Given the description of an element on the screen output the (x, y) to click on. 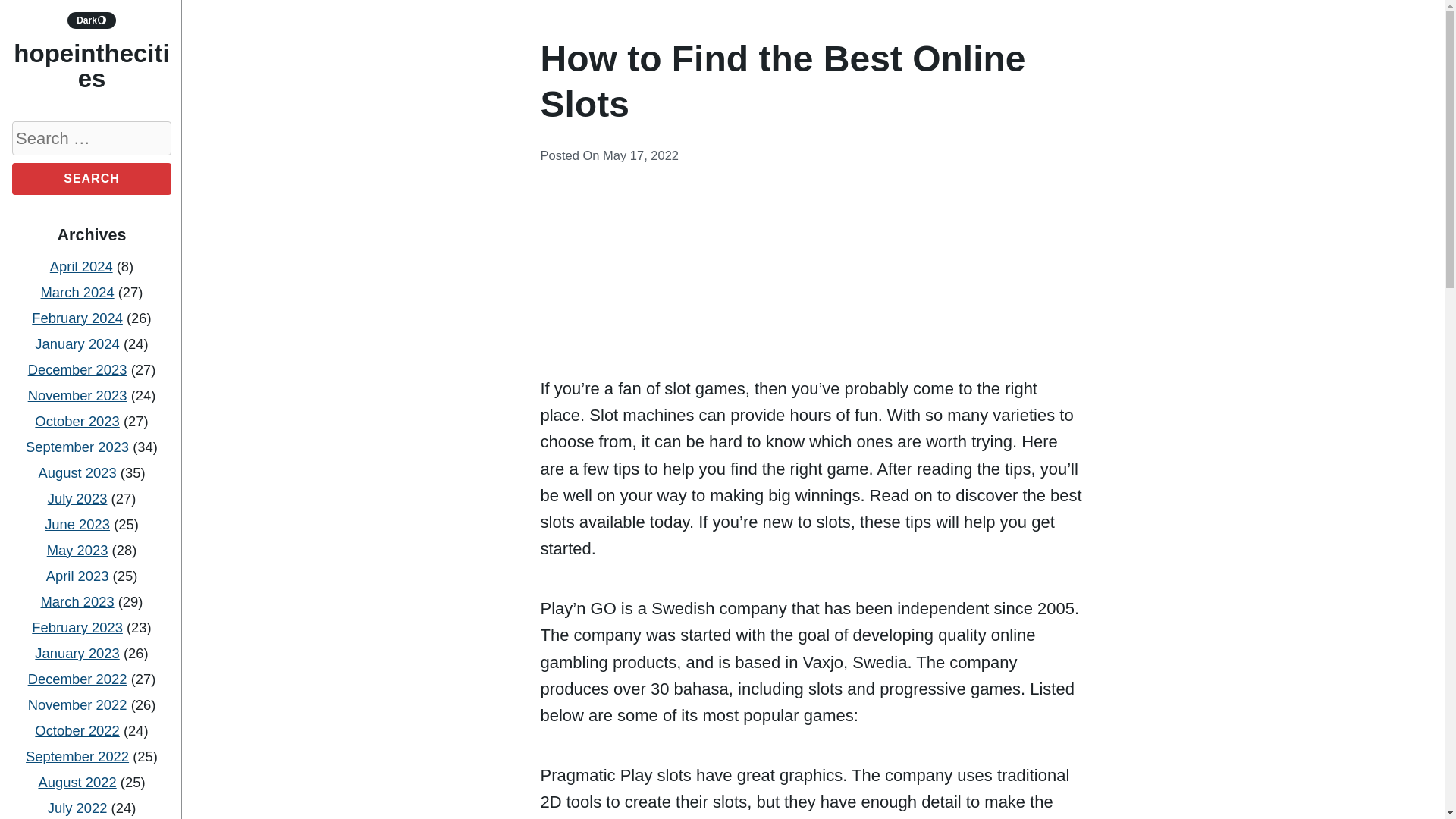
February 2023 (77, 627)
Search (91, 178)
December 2023 (77, 369)
May 2023 (76, 549)
September 2022 (77, 756)
January 2024 (76, 343)
August 2022 (76, 781)
October 2023 (76, 421)
April 2024 (81, 266)
September 2023 (77, 446)
March 2024 (77, 292)
November 2023 (77, 395)
February 2024 (77, 317)
January 2023 (76, 652)
August 2023 (76, 472)
